Given the description of an element on the screen output the (x, y) to click on. 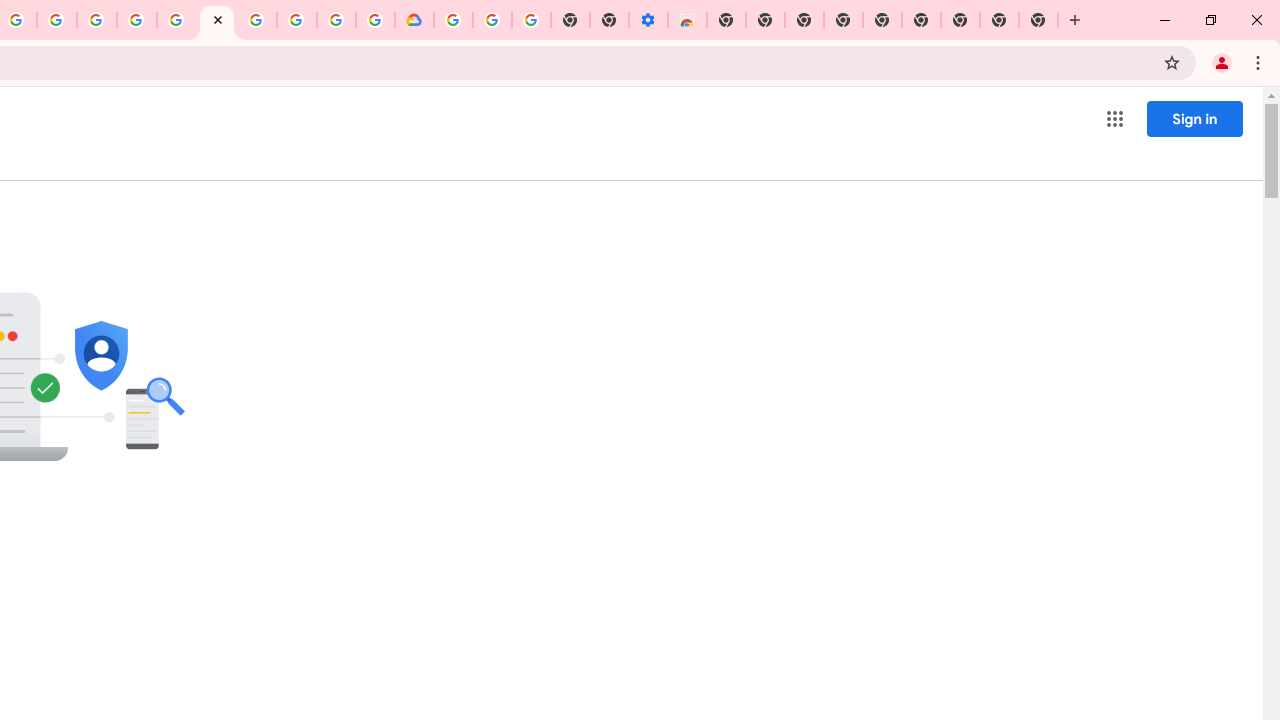
Sign in - Google Accounts (177, 20)
Create your Google Account (336, 20)
Sign in - Google Accounts (453, 20)
Browse the Google Chrome Community - Google Chrome Community (375, 20)
Turn cookies on or off - Computer - Google Account Help (531, 20)
